Given the description of an element on the screen output the (x, y) to click on. 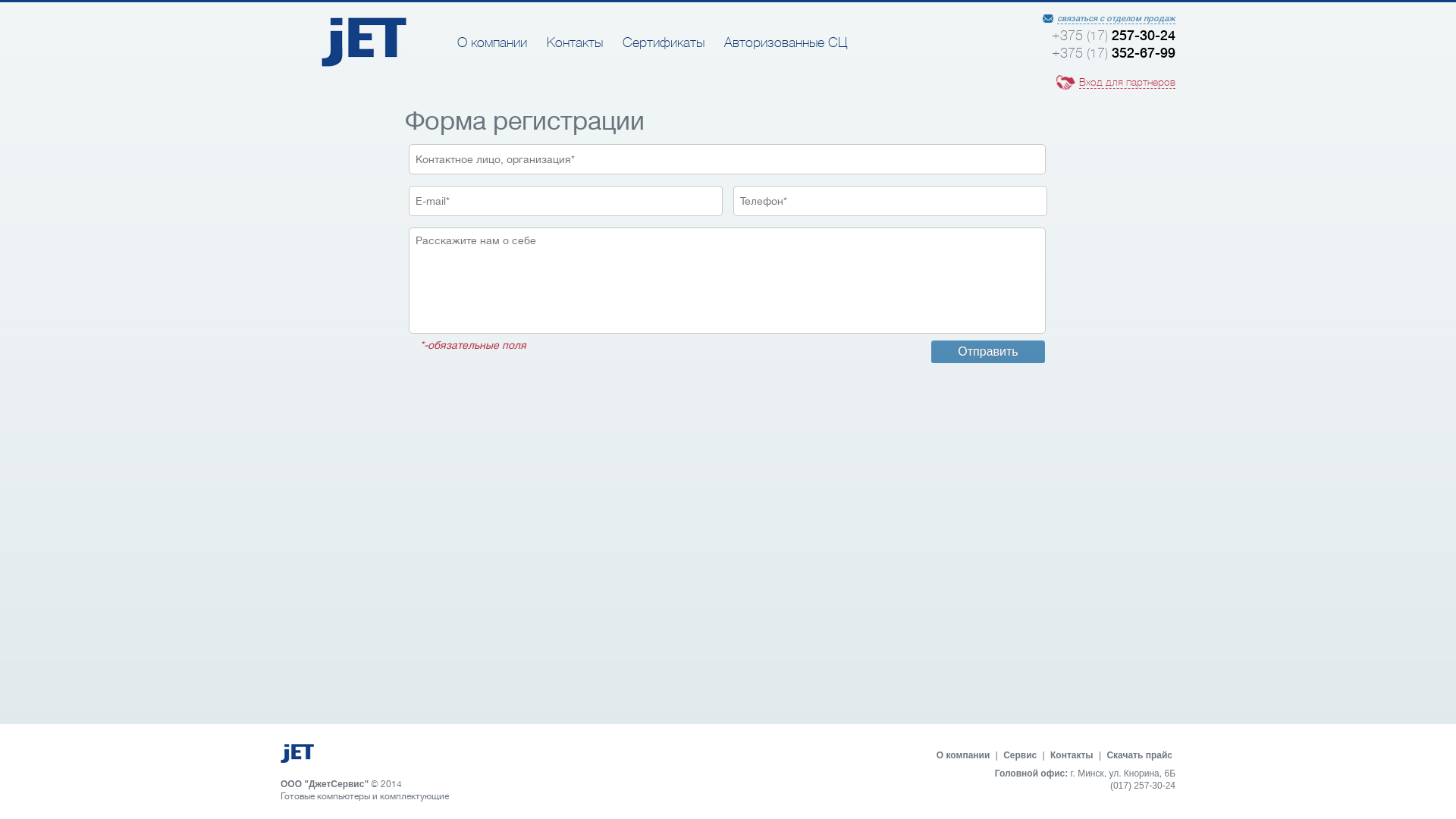
JET Element type: hover (363, 62)
